Given the description of an element on the screen output the (x, y) to click on. 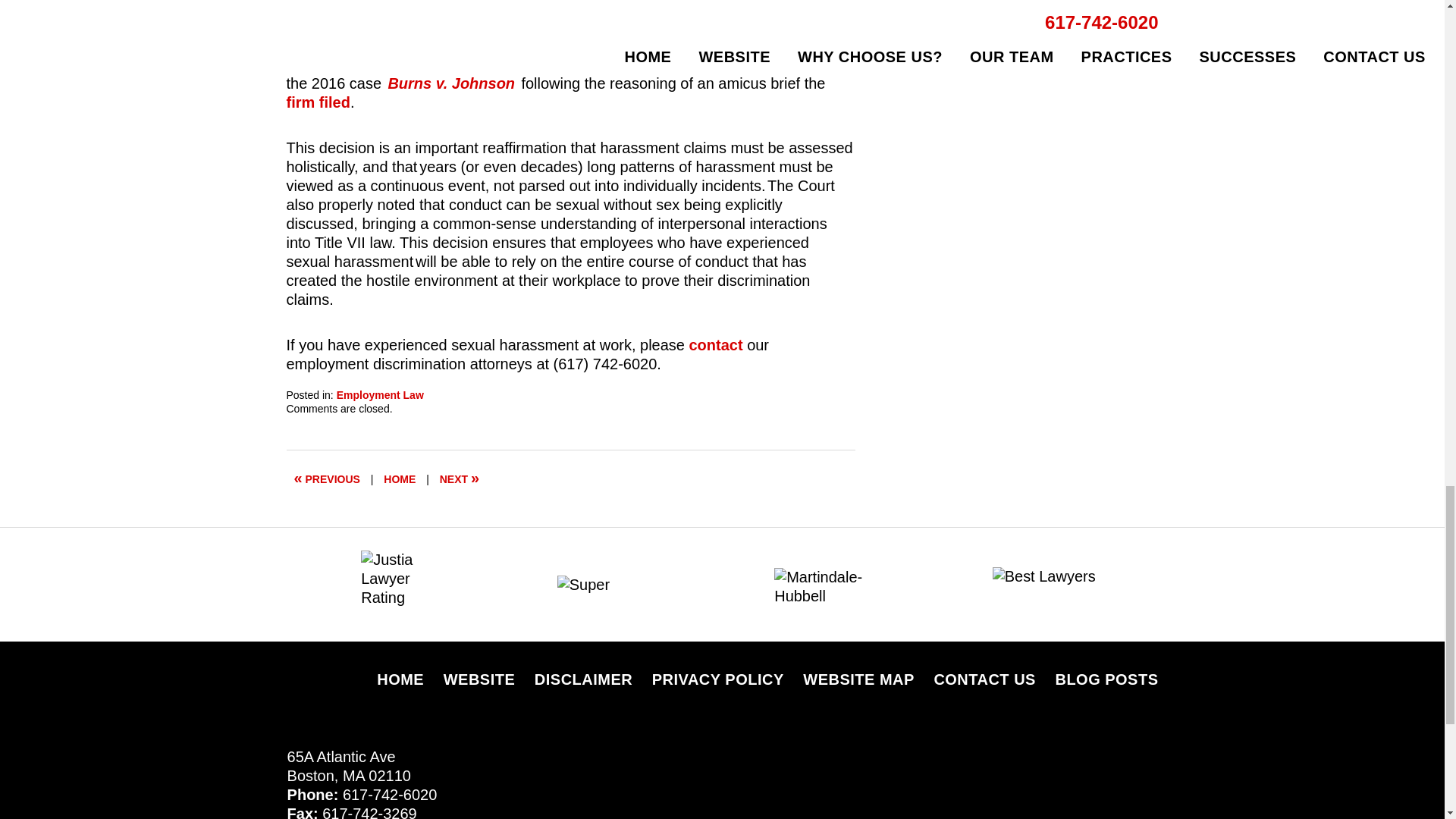
contact (715, 344)
Employment Law (379, 395)
firm filed (318, 102)
View all posts in Employment Law (379, 395)
HOME (399, 479)
Burns v. Johnson (451, 83)
